Given the description of an element on the screen output the (x, y) to click on. 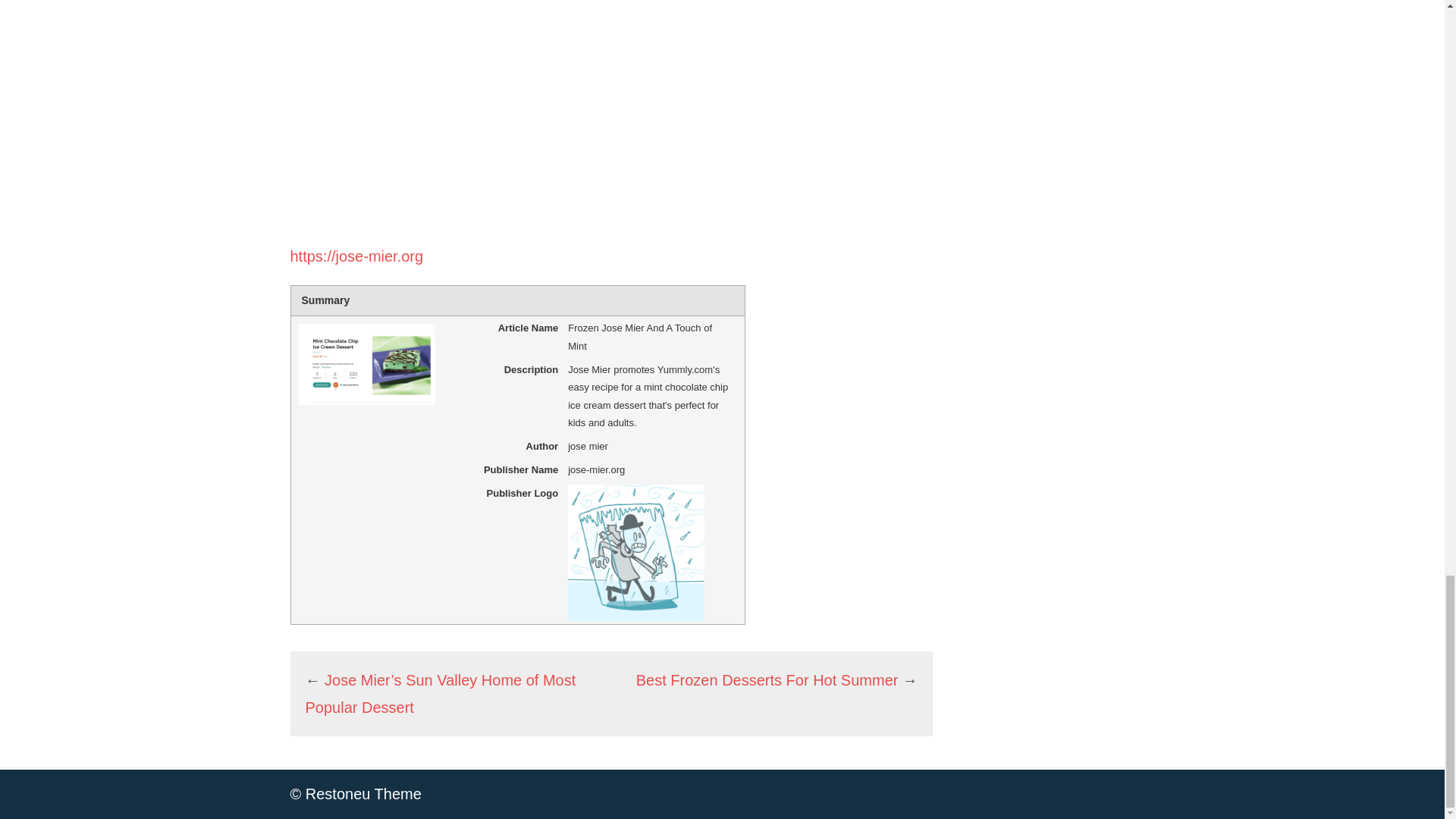
Best Frozen Desserts For Hot Summer (767, 679)
YouTube video player (501, 109)
